Given the description of an element on the screen output the (x, y) to click on. 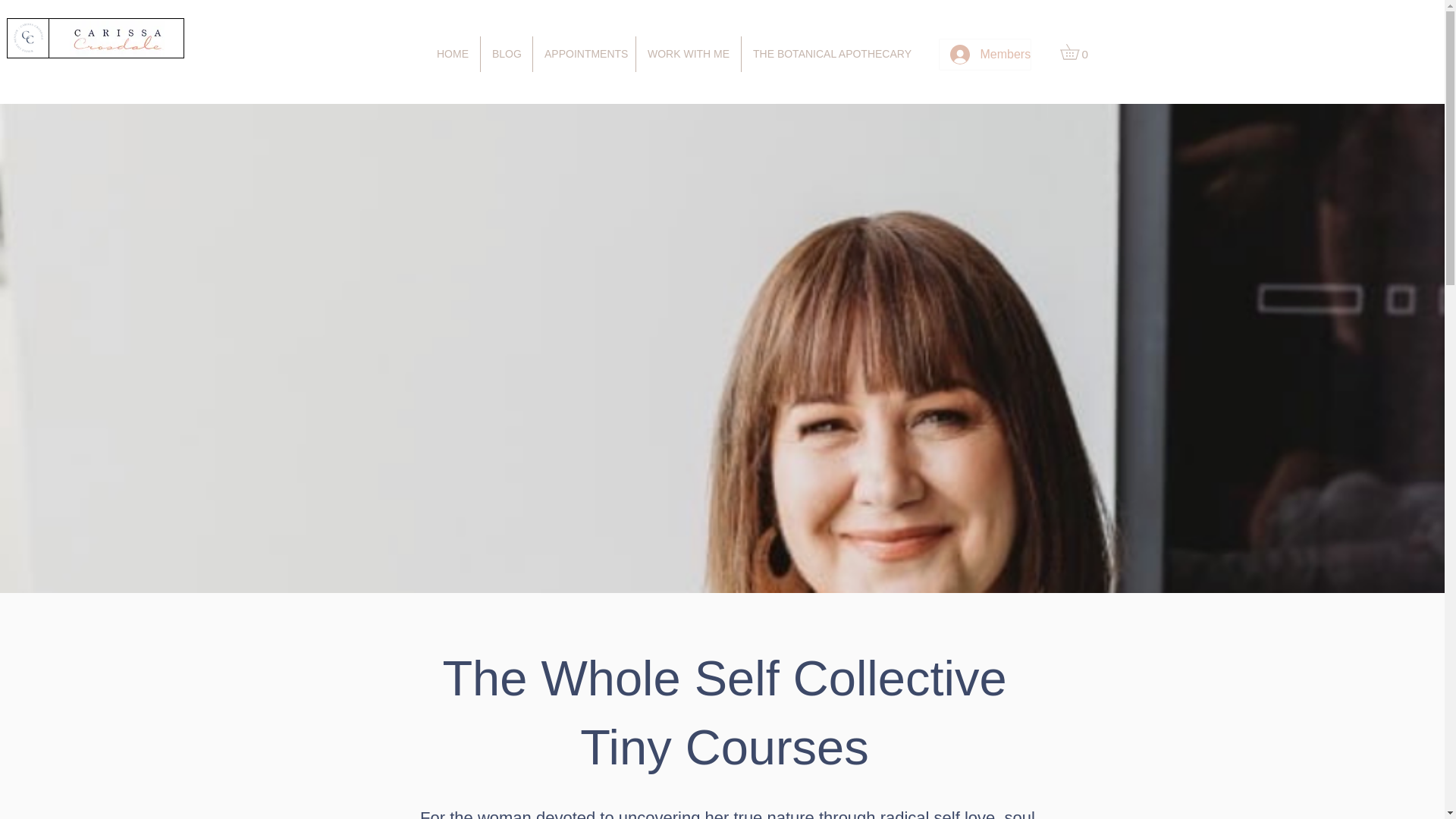
0 (1076, 51)
THE BOTANICAL APOTHECARY (830, 54)
Members (984, 54)
APPOINTMENTS (583, 54)
BLOG (506, 54)
HOME (452, 54)
0 (1076, 51)
WORK WITH ME (688, 54)
